Given the description of an element on the screen output the (x, y) to click on. 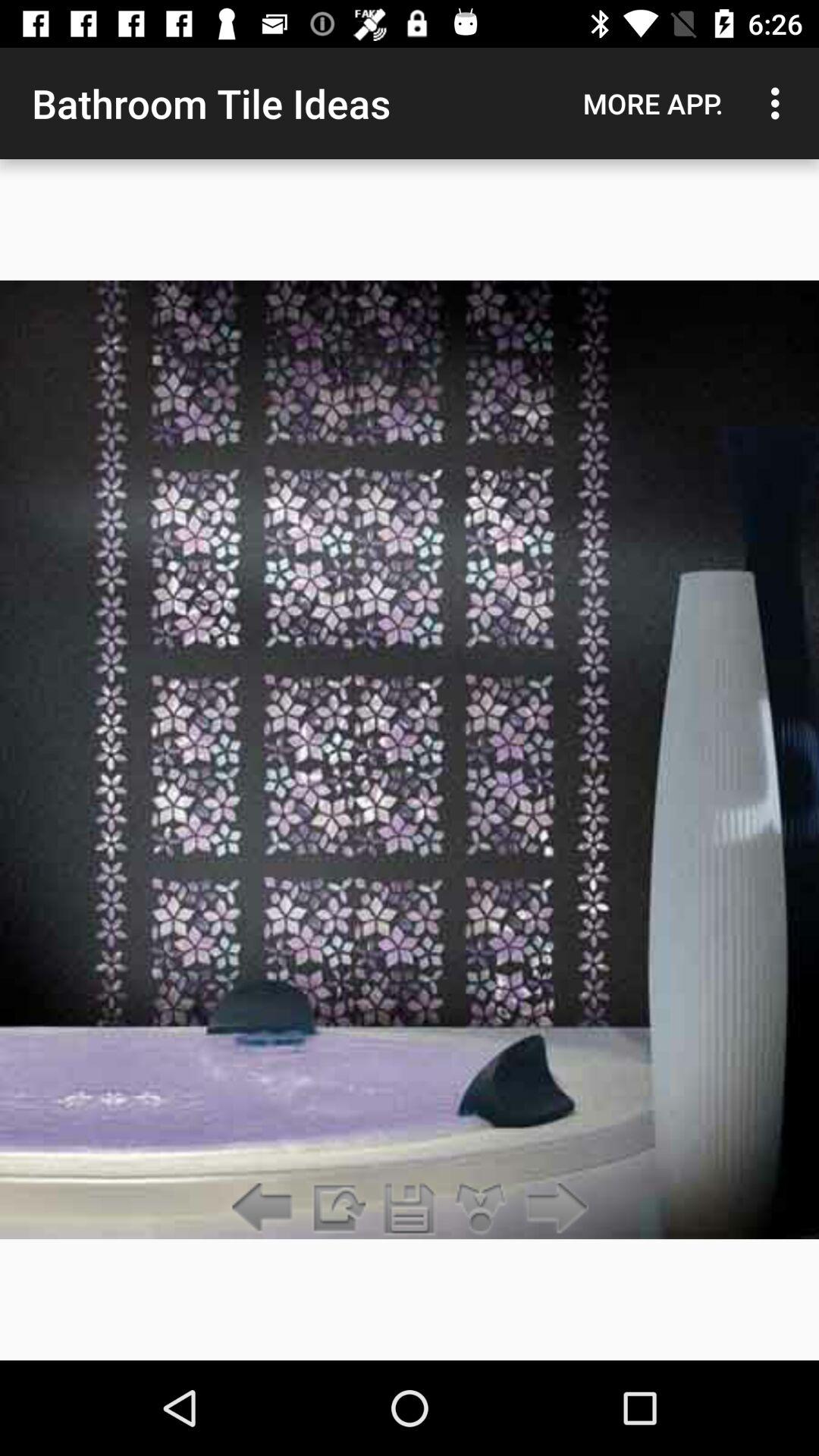
save this tile image (409, 1208)
